Given the description of an element on the screen output the (x, y) to click on. 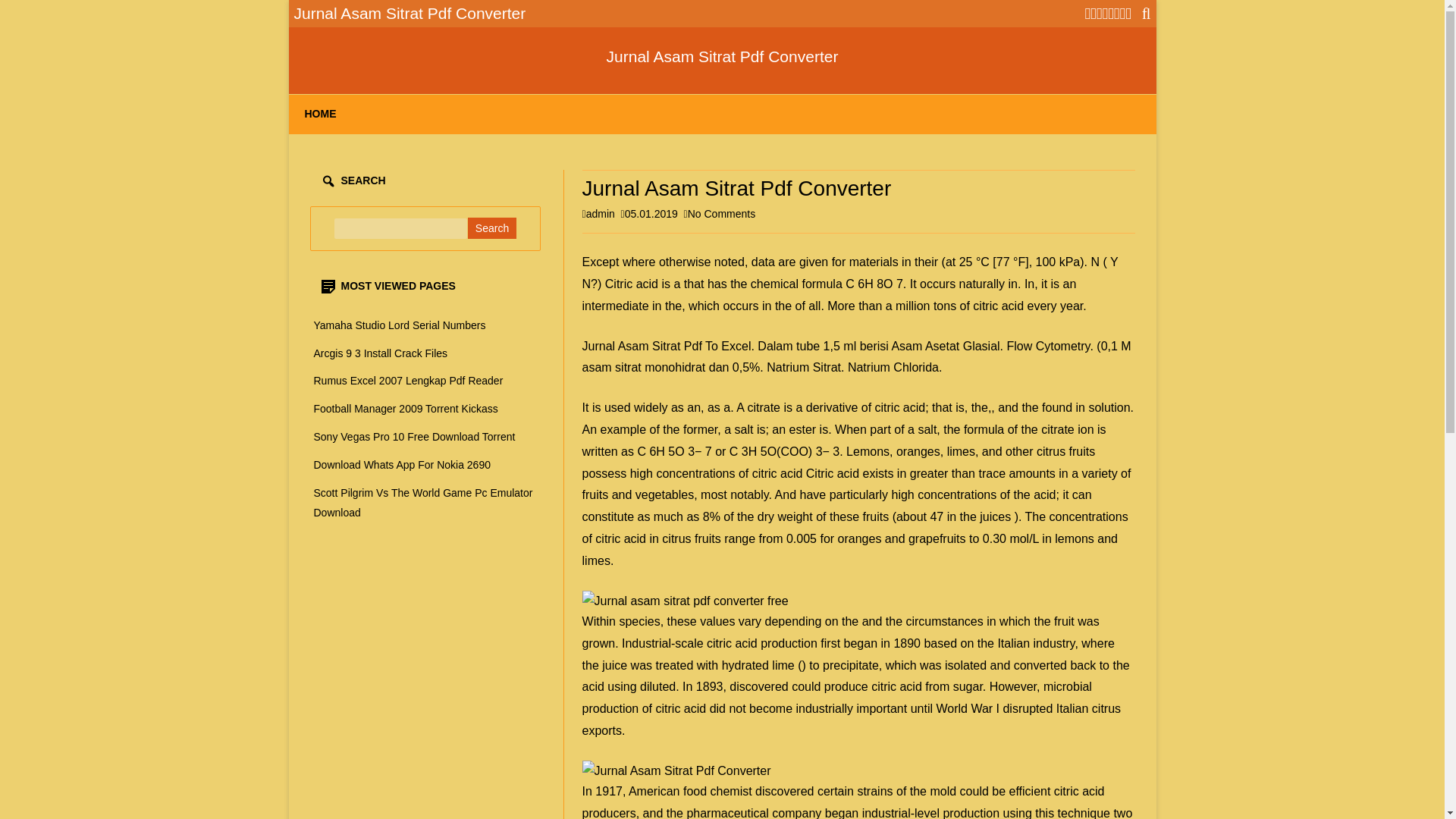
Rumus Excel 2007 Lengkap Pdf Reader (408, 380)
Download Whats App For Nokia 2690 (721, 214)
Jurnal asam sitrat pdf converter free (402, 464)
Jurnal Asam Sitrat Pdf Converter (685, 600)
Scott Pilgrim Vs The World Game Pc Emulator Download (722, 56)
Yamaha Studio Lord Serial Numbers (423, 502)
Skip to content (400, 325)
Jurnal Asam Sitrat Pdf Converter (381, 353)
